Given the description of an element on the screen output the (x, y) to click on. 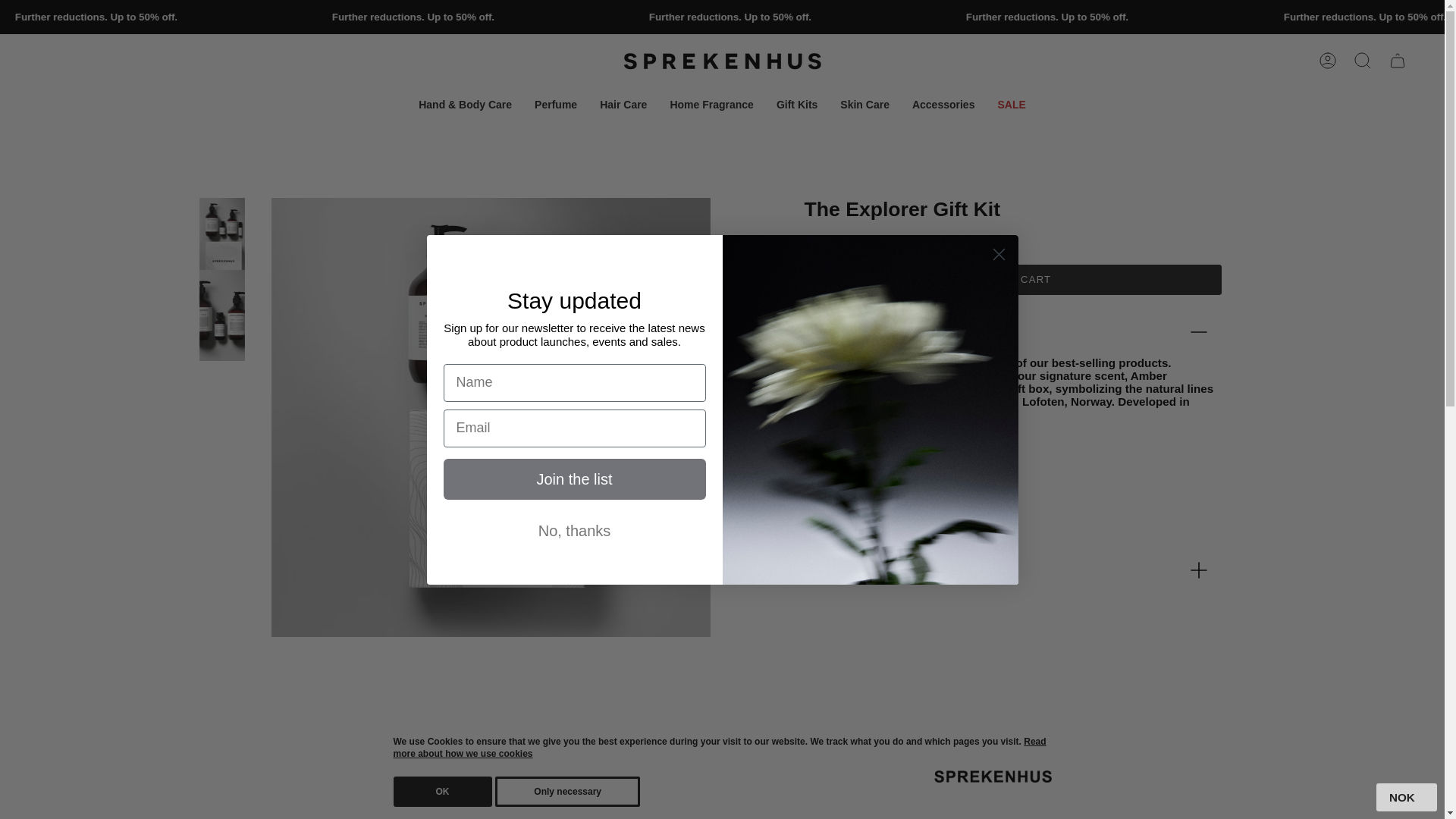
Skin Care (864, 104)
Read more about how we use cookies (719, 747)
Perfume (555, 104)
Accessories (944, 104)
Close dialog 1 (998, 253)
Home Fragrance (711, 104)
Gift Kits (796, 104)
Hair Care (623, 104)
SALE (1010, 104)
Only necessary (567, 791)
OK (442, 791)
